Given the description of an element on the screen output the (x, y) to click on. 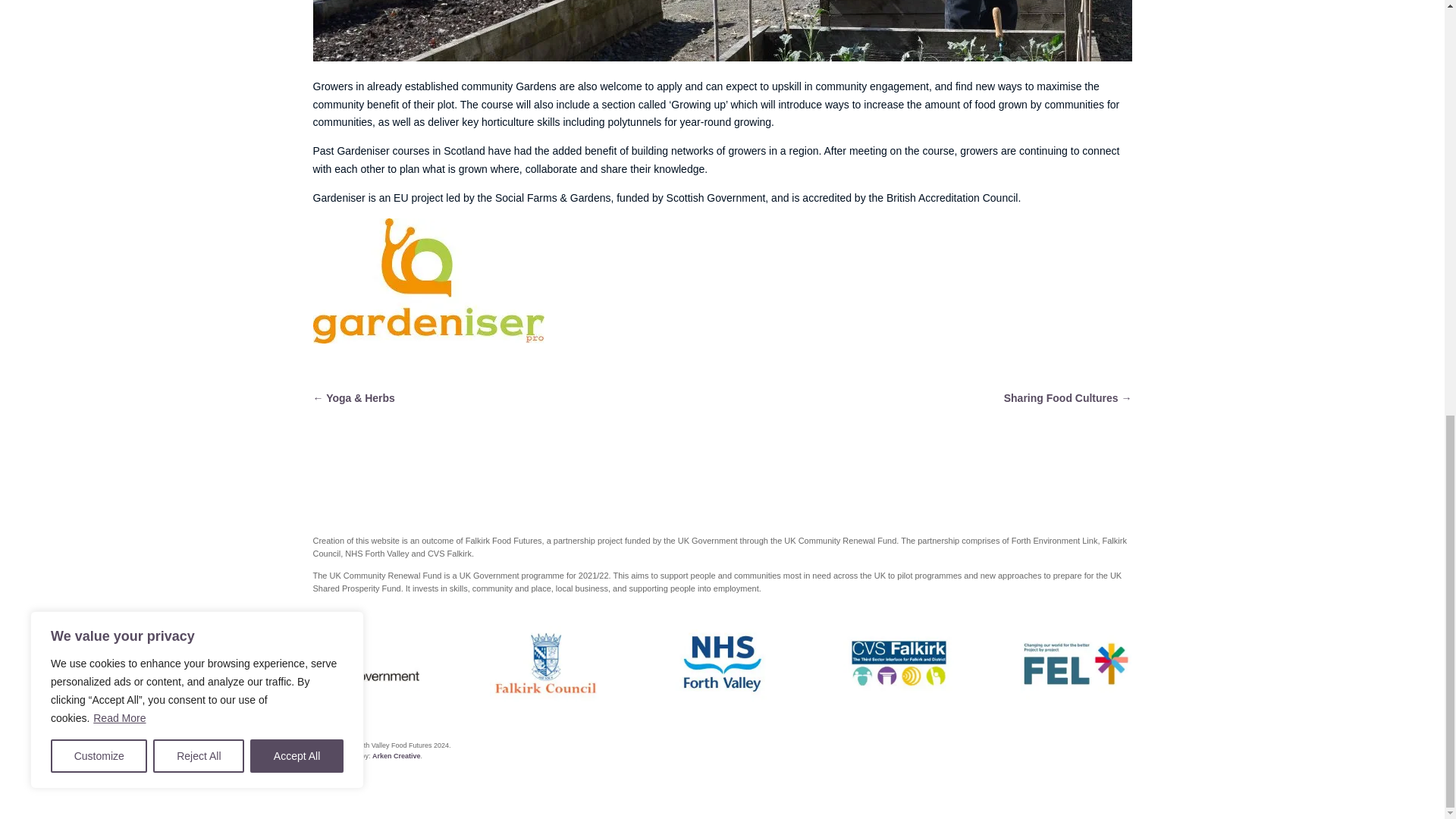
Visit the FEL website (1076, 664)
Visit the CVS Falkirk website (899, 664)
Visit the Falkirk Council website (545, 664)
Visit the NHS Forth Valley website (721, 664)
Visit the HM Government website (368, 664)
